Given the description of an element on the screen output the (x, y) to click on. 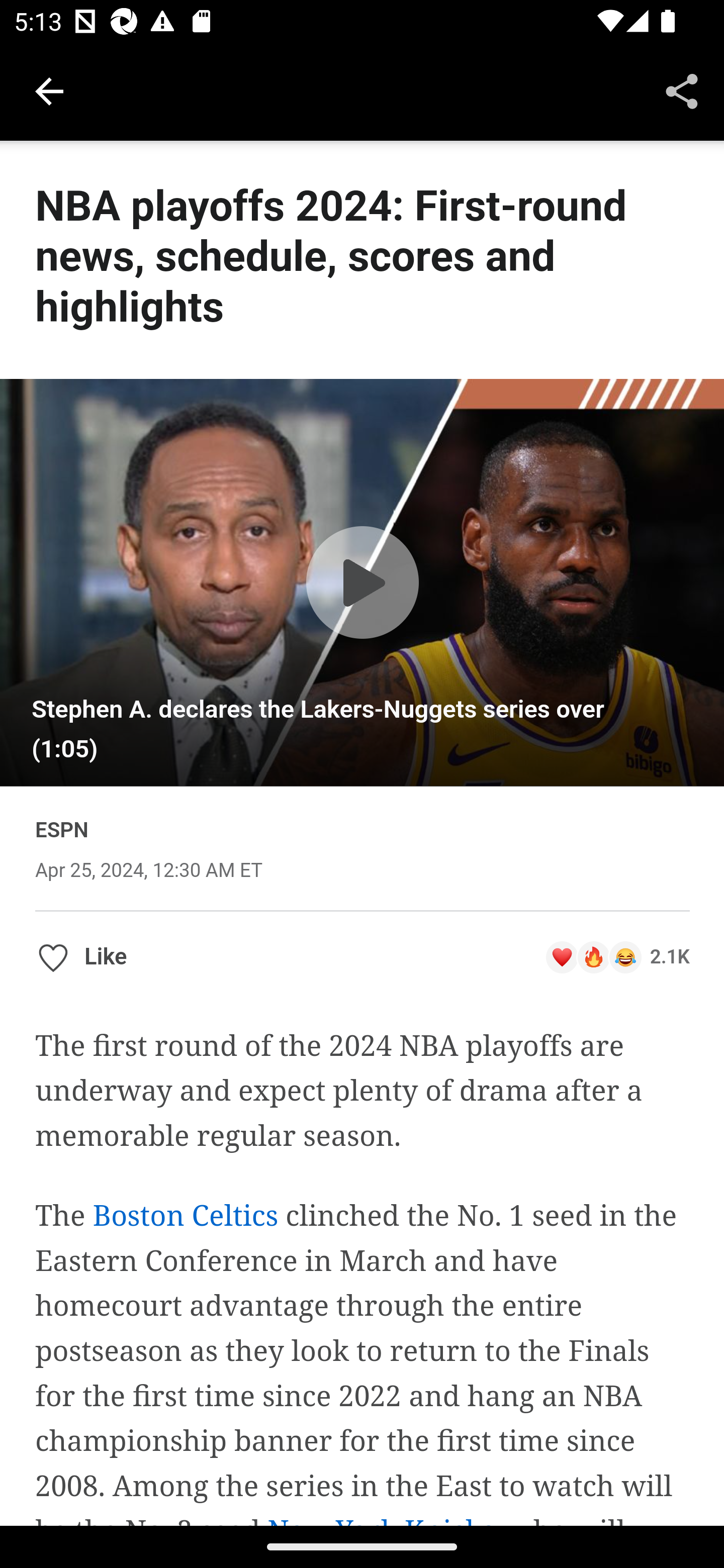
Navigate up (49, 91)
Share (681, 90)
